Given the description of an element on the screen output the (x, y) to click on. 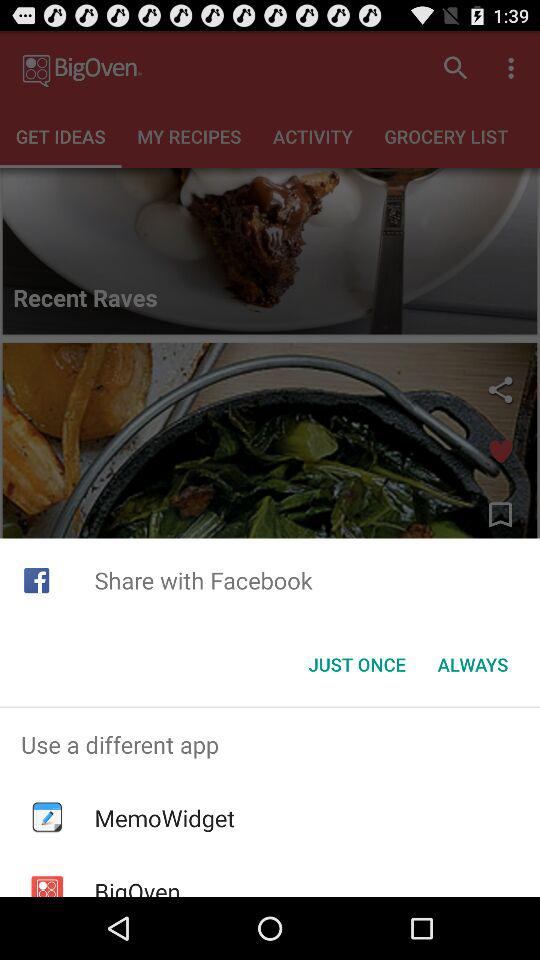
jump until the use a different icon (270, 744)
